Given the description of an element on the screen output the (x, y) to click on. 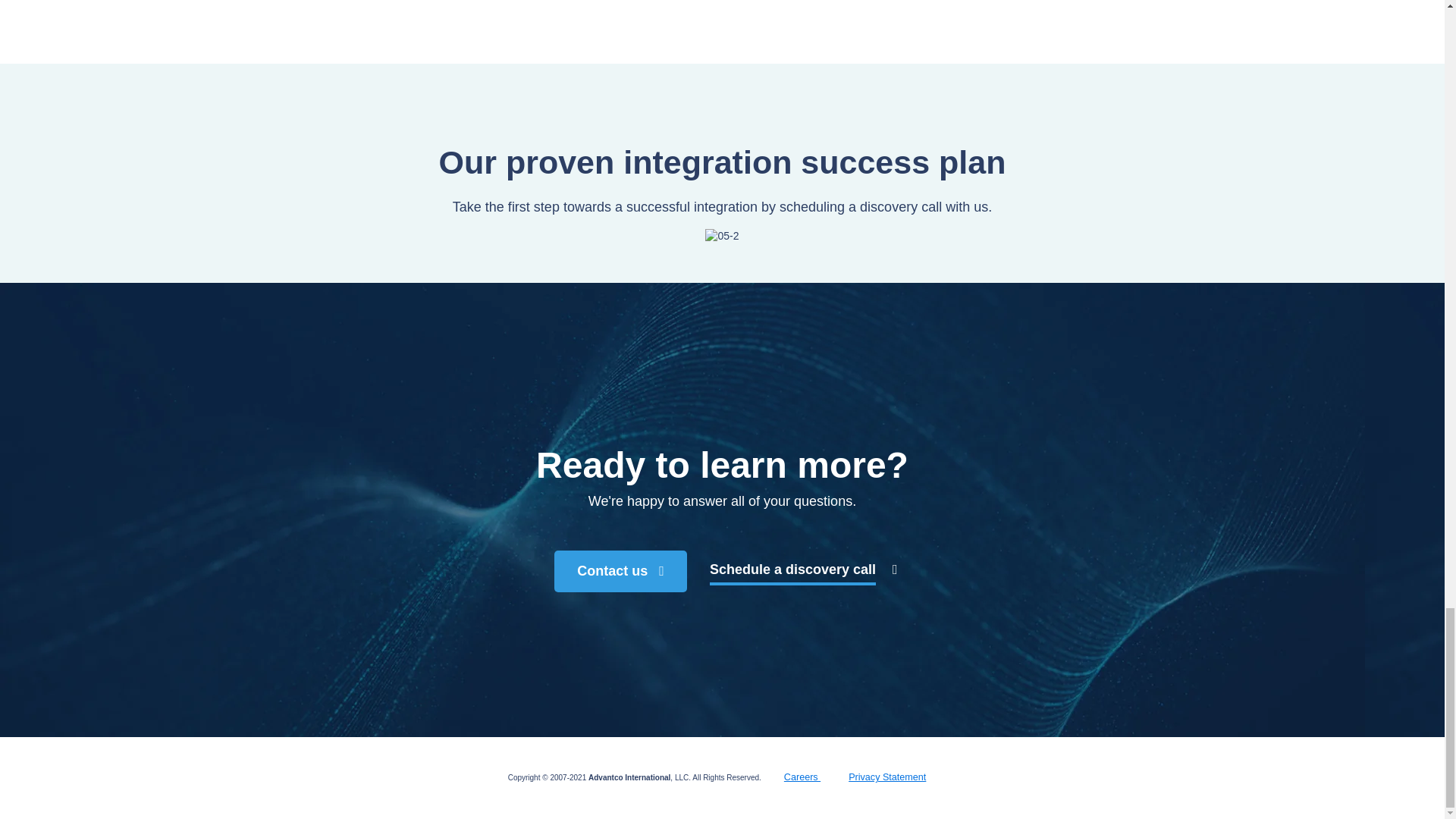
Privacy Statement (875, 777)
Careers (791, 777)
Schedule a discovery call (804, 571)
Contact us (620, 571)
